Given the description of an element on the screen output the (x, y) to click on. 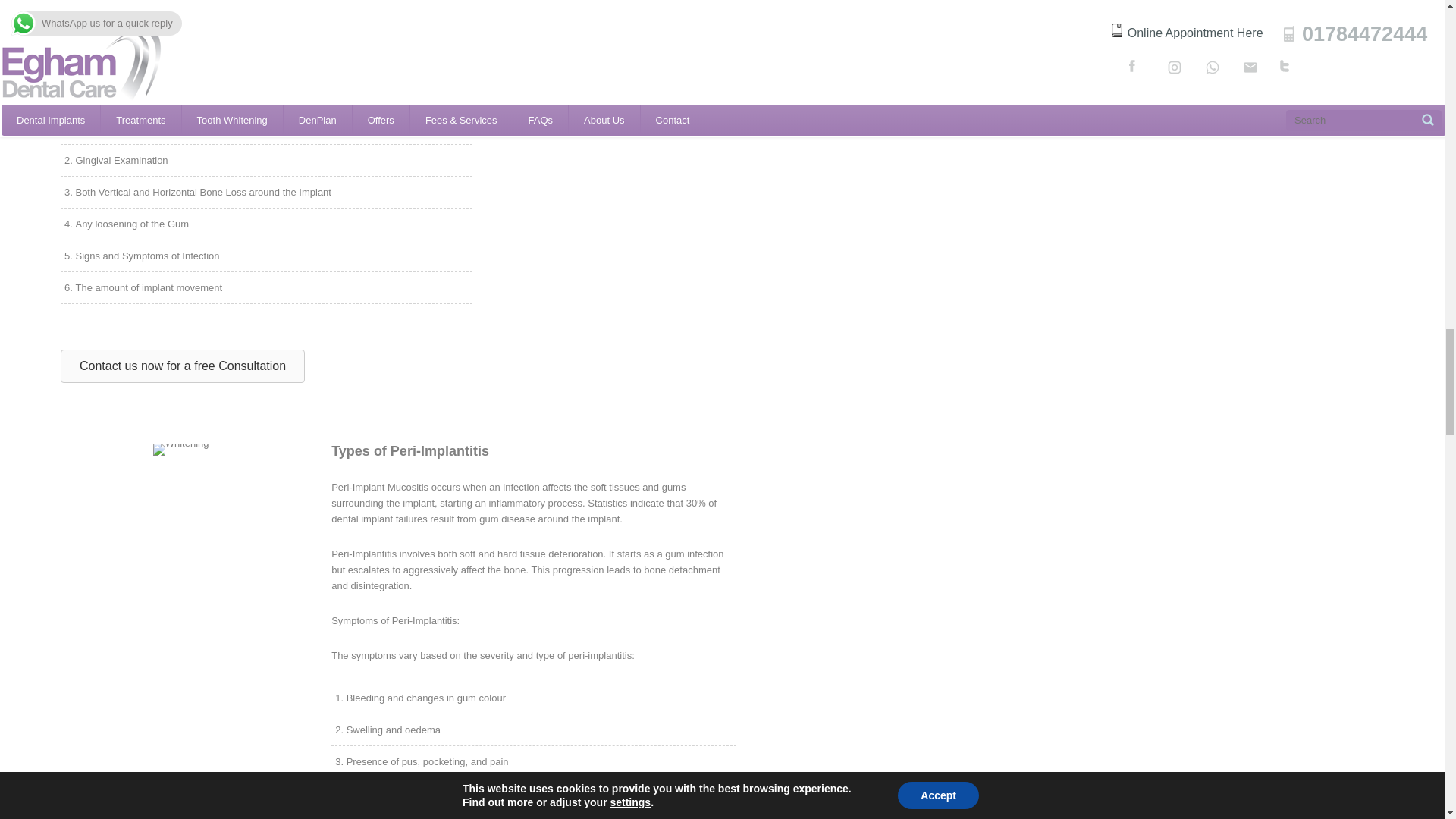
Whitening (180, 449)
Whitening (619, 2)
